Given the description of an element on the screen output the (x, y) to click on. 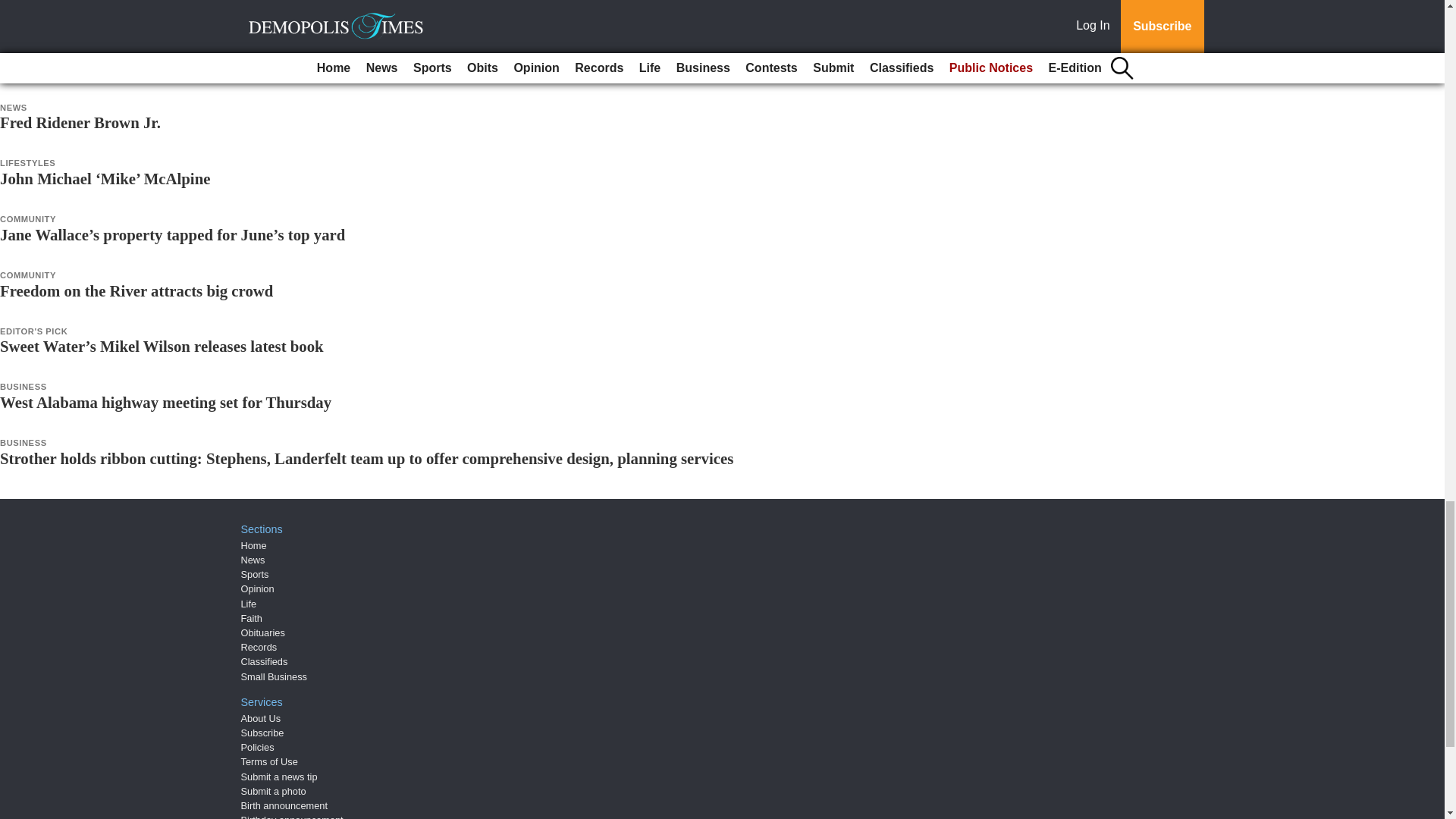
Fred Ridener Brown Jr. (80, 122)
Johnie Ray Brock (60, 10)
